Given the description of an element on the screen output the (x, y) to click on. 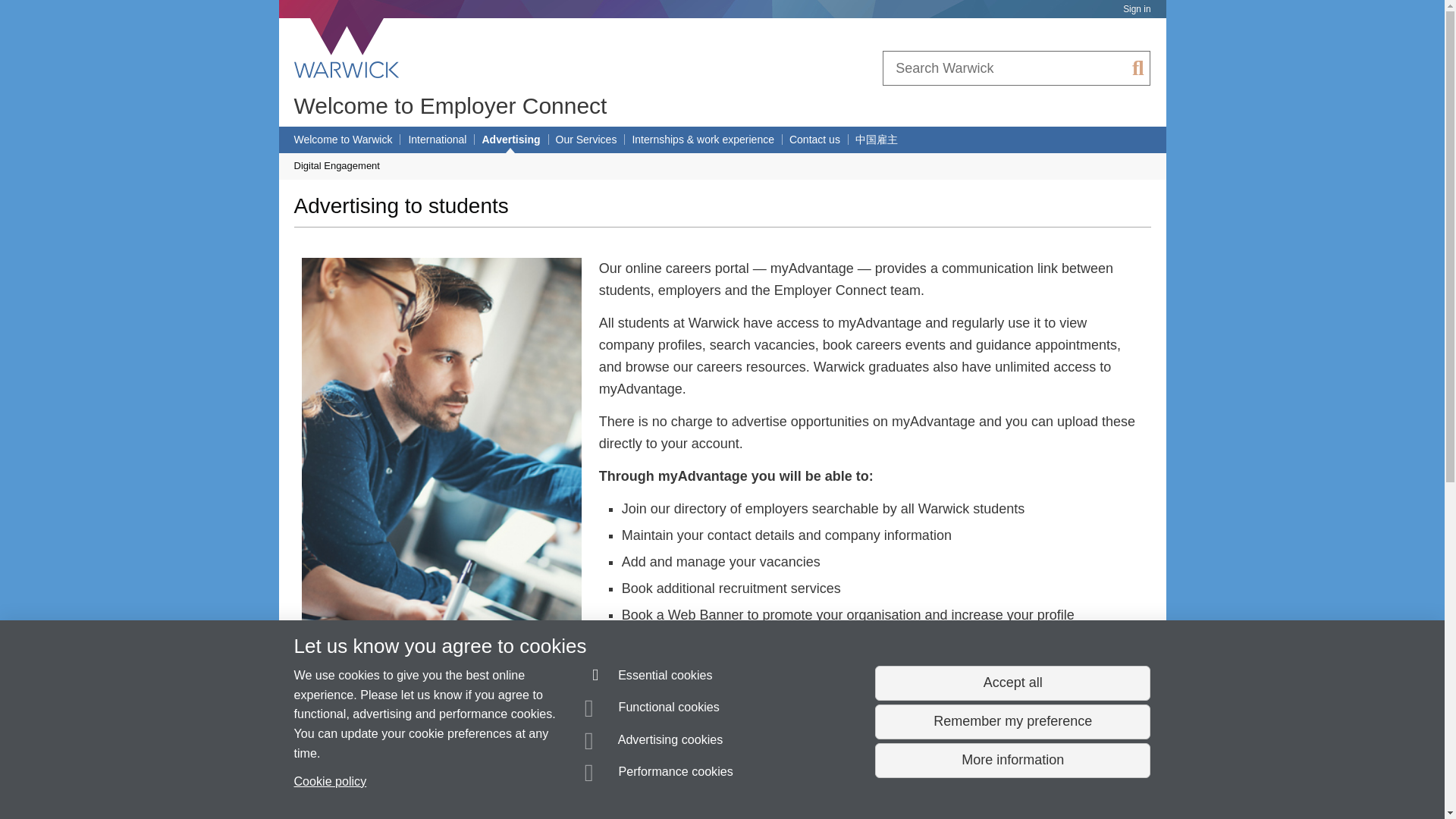
Welcome to Warwick (343, 139)
University of Warwick homepage (346, 48)
Advertising (510, 139)
Sign in (1136, 9)
Our Services (584, 139)
Accept all functional, advertising and performance cookies (1012, 683)
Welcome to Employer Connect (450, 105)
